Given the description of an element on the screen output the (x, y) to click on. 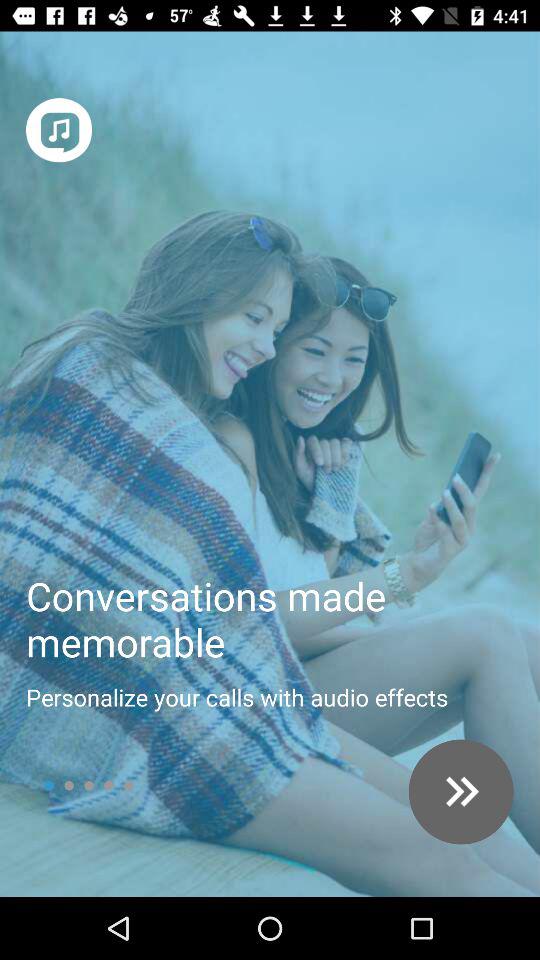
next page (460, 791)
